Given the description of an element on the screen output the (x, y) to click on. 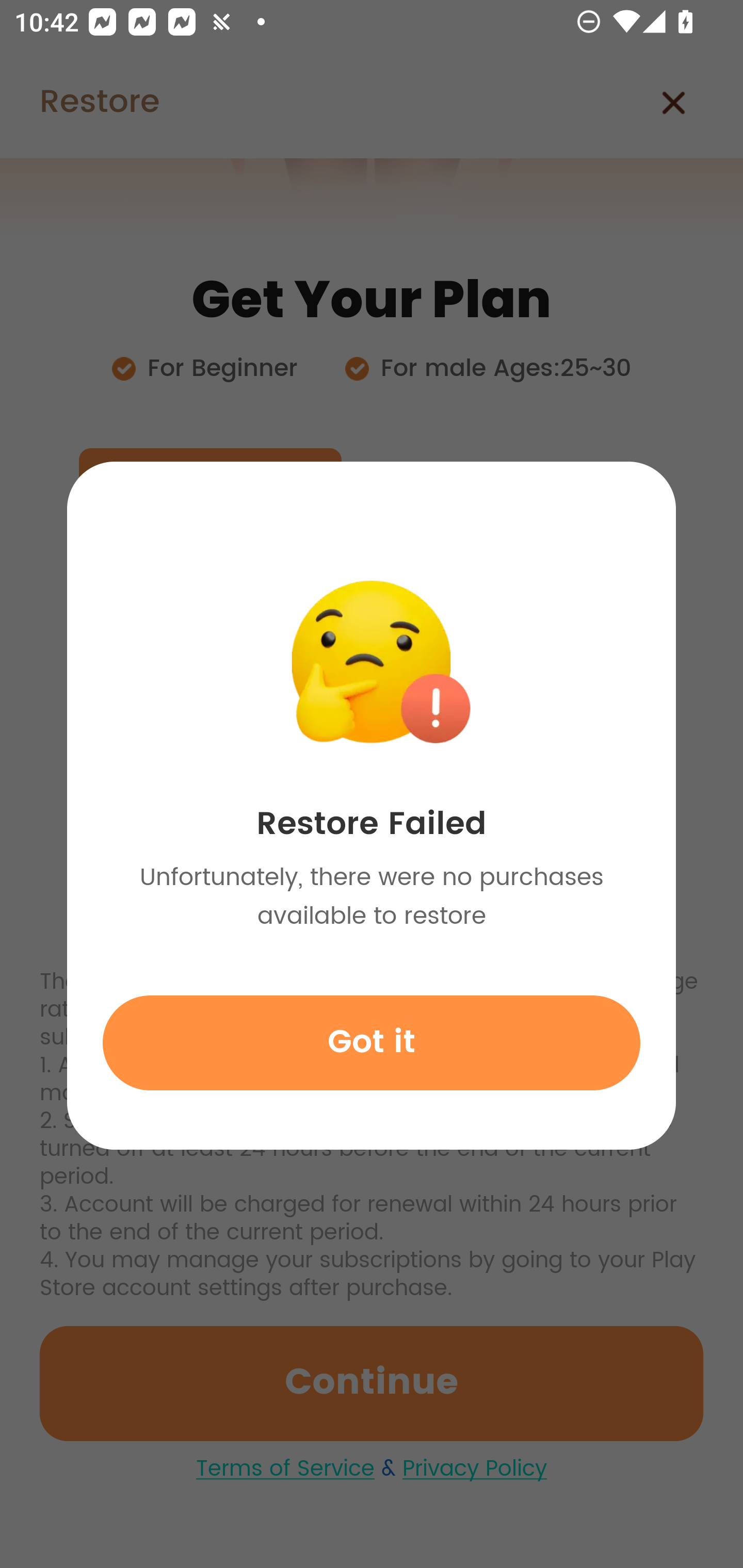
Got it (371, 1042)
